Given the description of an element on the screen output the (x, y) to click on. 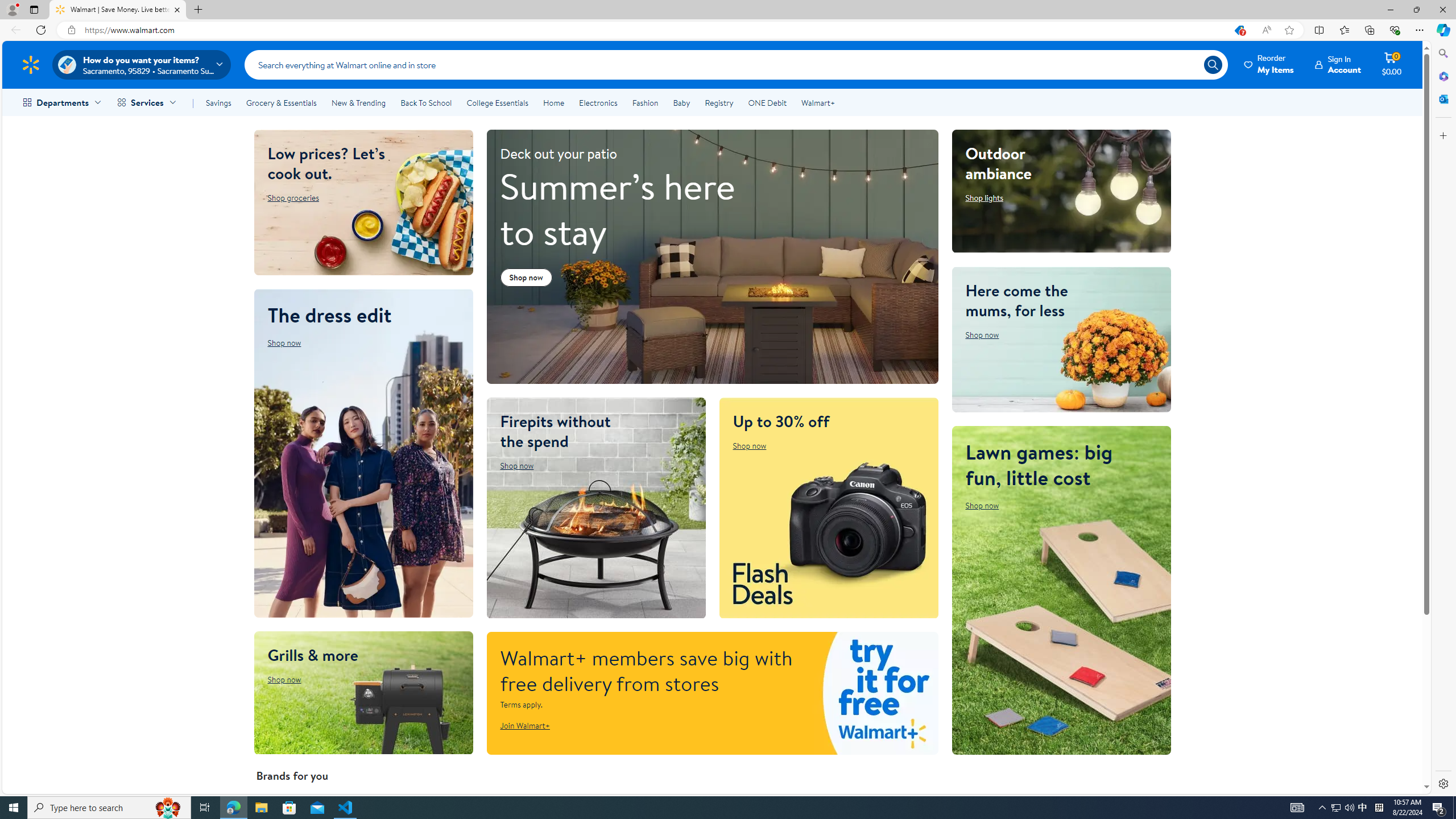
This site has coupons! Shopping in Microsoft Edge, 7 (1239, 29)
Walmart | Save Money. Live better. (117, 9)
